Given the description of an element on the screen output the (x, y) to click on. 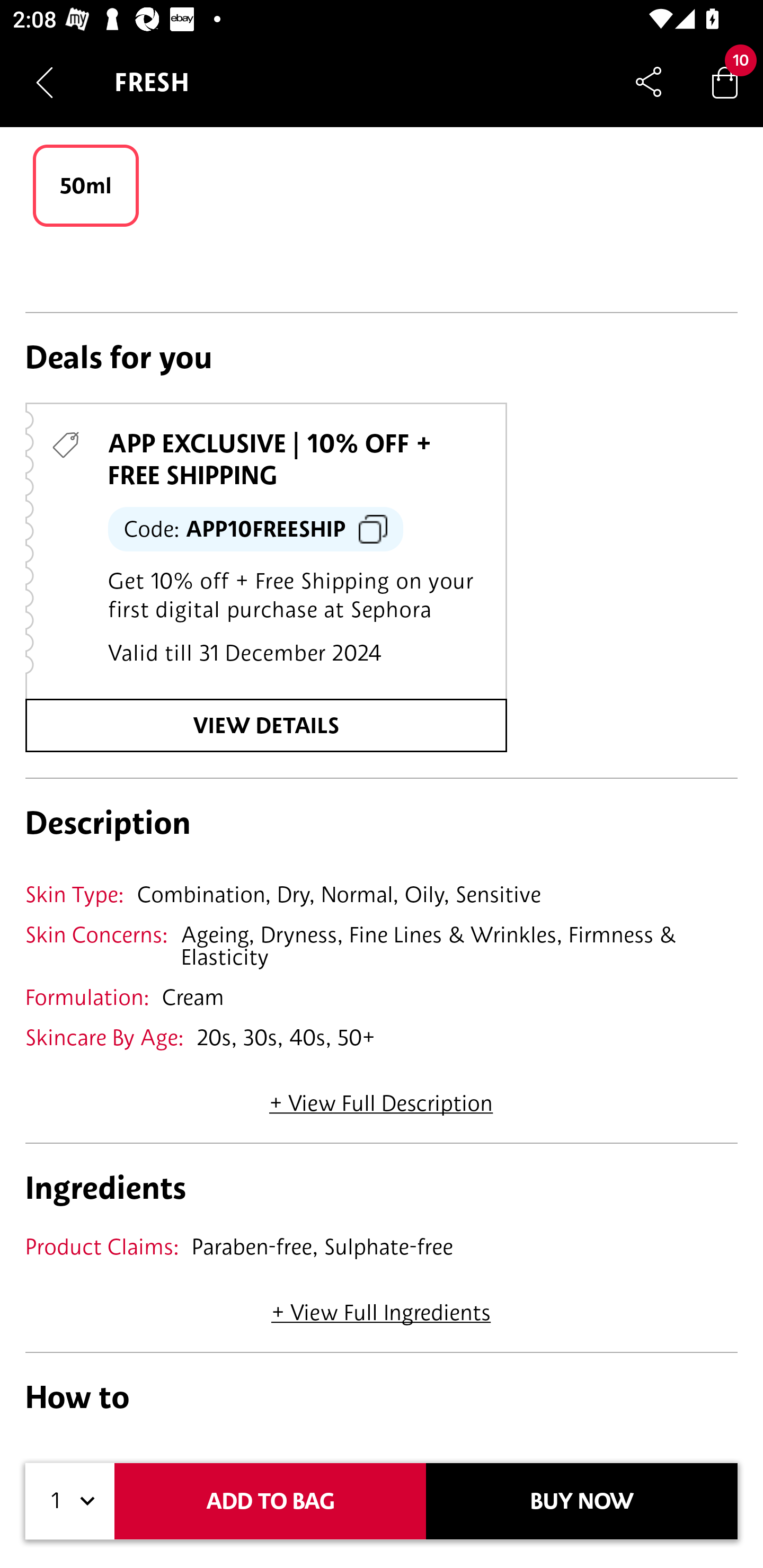
Navigate up (44, 82)
Share (648, 81)
Bag (724, 81)
50ml (85, 185)
VIEW DETAILS (266, 725)
+ View Full Description (380, 1096)
+ View Full Ingredients (380, 1305)
1 (69, 1500)
ADD TO BAG (269, 1500)
BUY NOW (581, 1500)
